Given the description of an element on the screen output the (x, y) to click on. 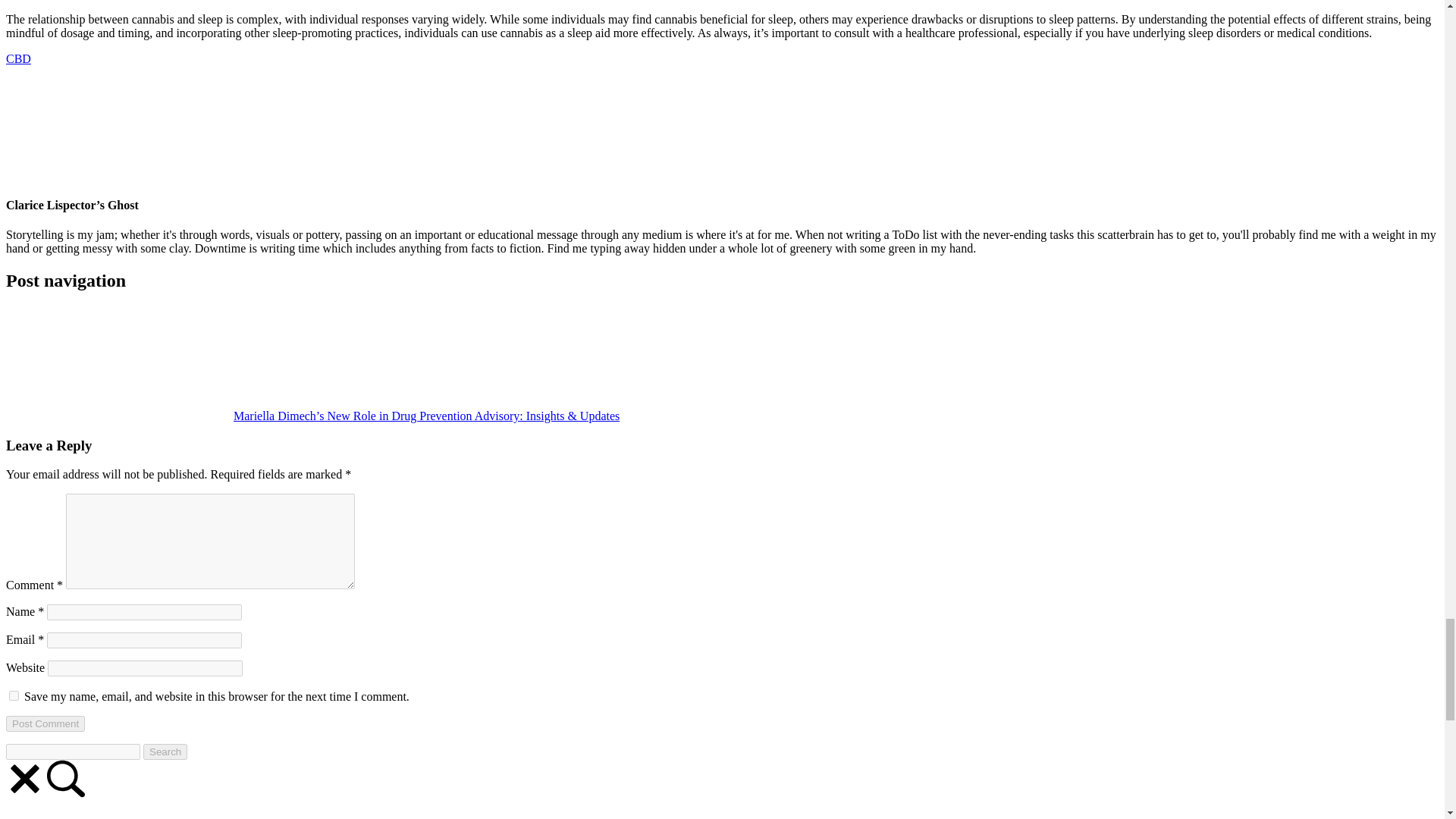
Post Comment (44, 723)
Search (164, 751)
CBD (17, 57)
yes (13, 696)
Search (164, 751)
Post Comment (44, 723)
